Given the description of an element on the screen output the (x, y) to click on. 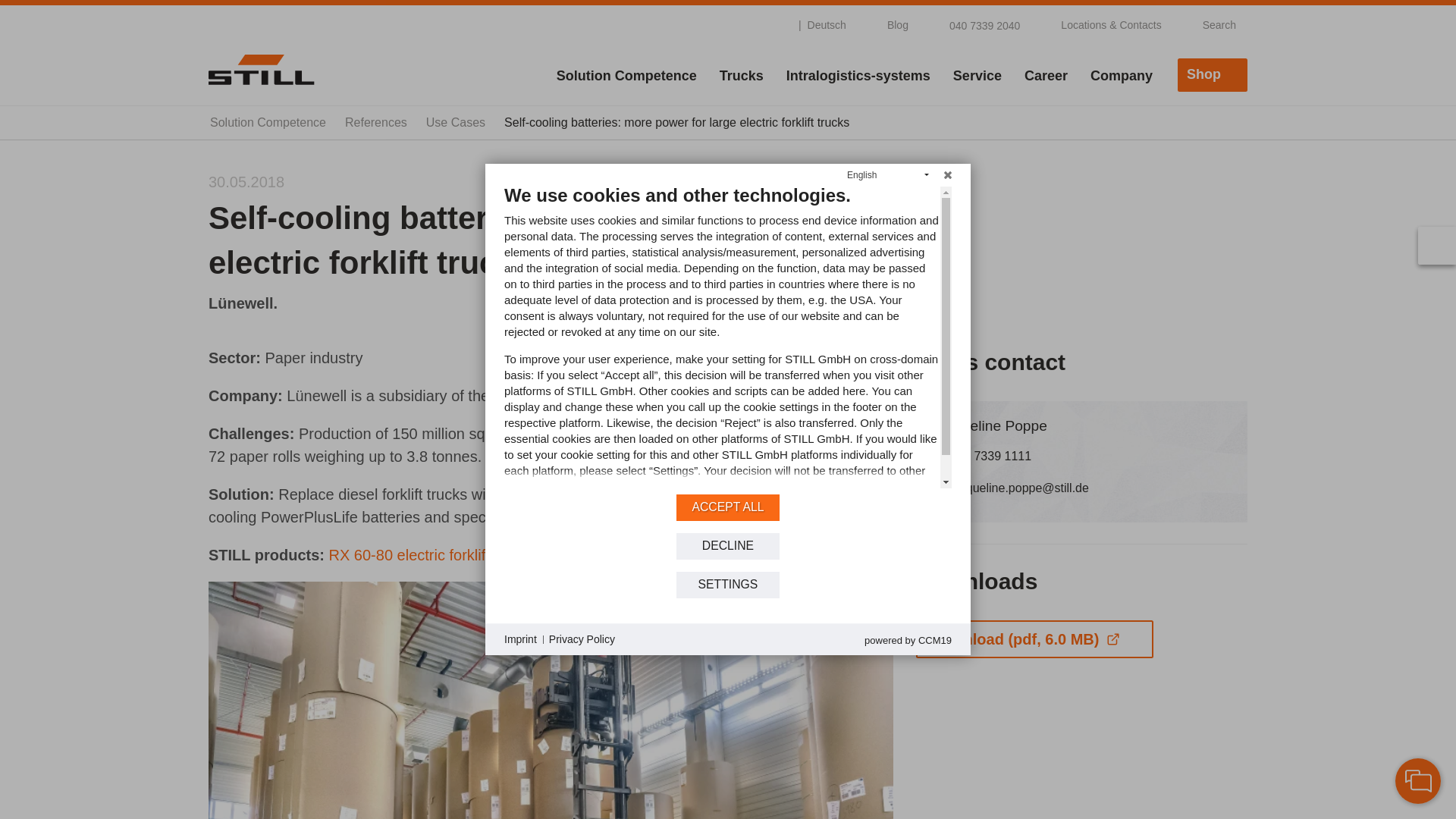
Call hotline (975, 24)
STILL Germany (261, 69)
Shop (1212, 74)
